Given the description of an element on the screen output the (x, y) to click on. 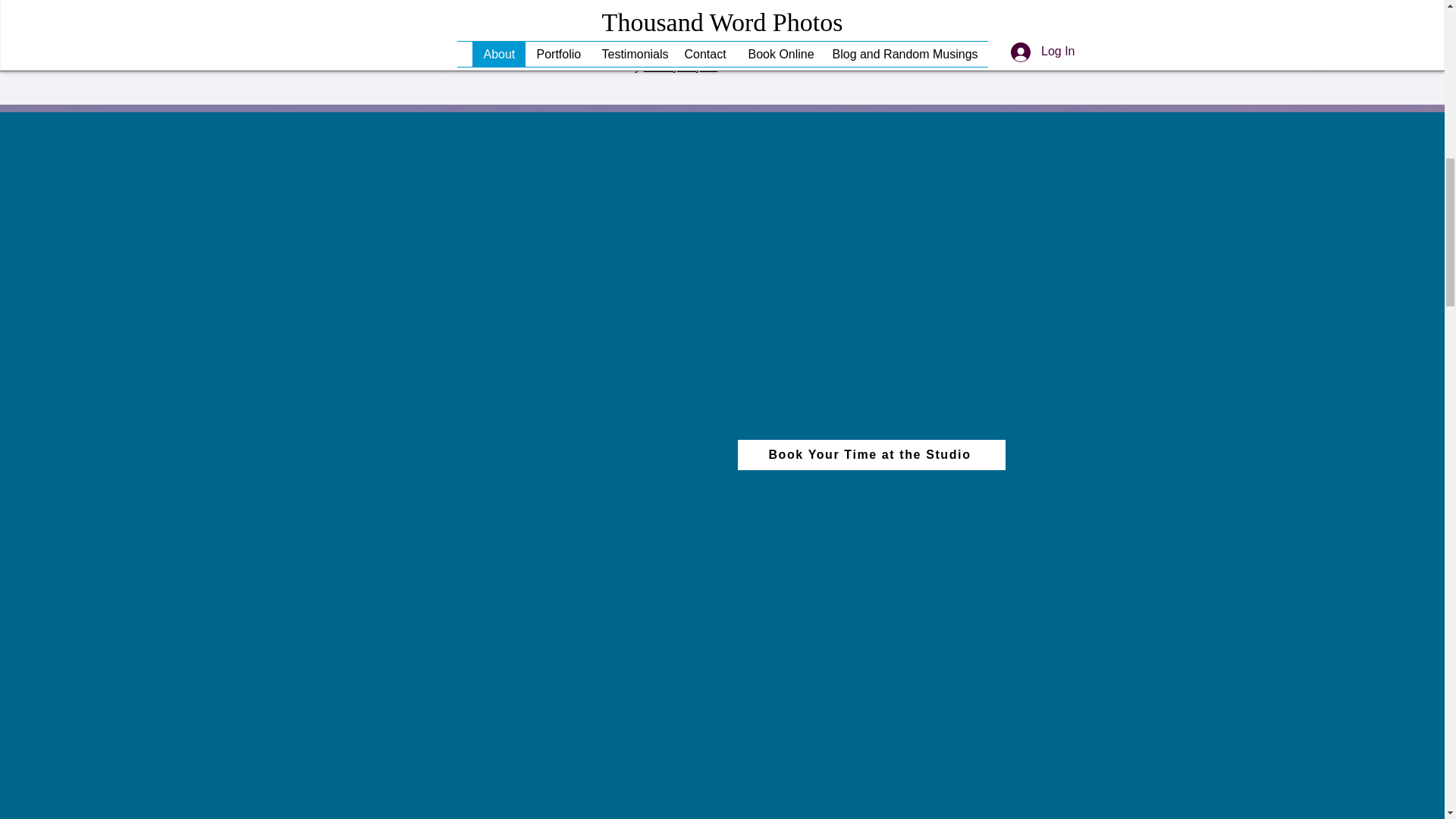
Shirley Snyder (680, 65)
Book Your Time at the Studio (870, 454)
